Given the description of an element on the screen output the (x, y) to click on. 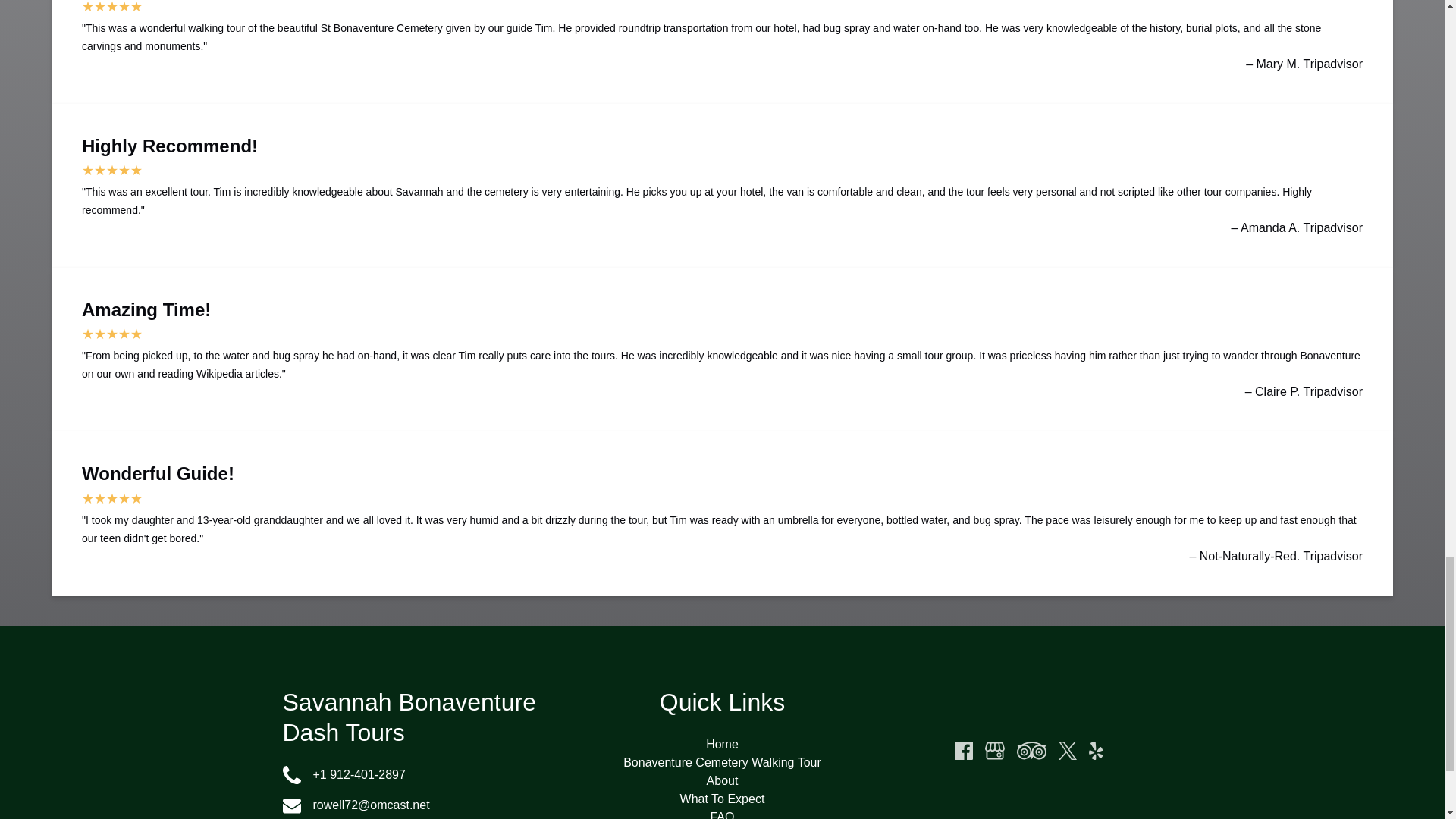
Phone (290, 774)
Home (722, 744)
Bonaventure Cemetery Walking Tour (722, 762)
About (722, 780)
Envelope (290, 805)
What To Expect (722, 798)
